Given the description of an element on the screen output the (x, y) to click on. 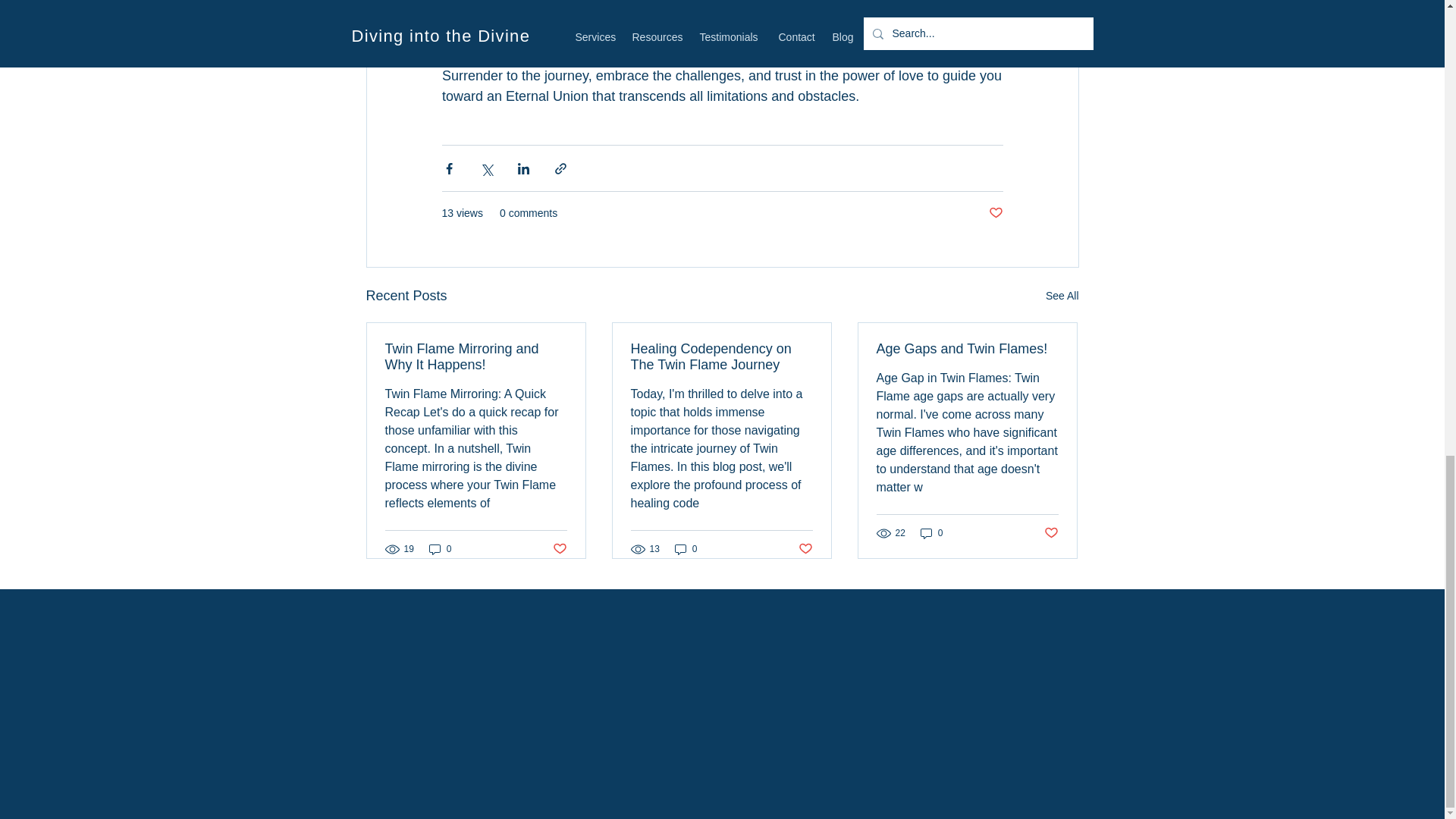
Healing Codependency on The Twin Flame Journey (721, 357)
0 (685, 549)
0 (440, 549)
Post not marked as liked (1050, 533)
Post not marked as liked (804, 548)
Age Gaps and Twin Flames! (967, 349)
0 (931, 532)
Post not marked as liked (558, 548)
Post not marked as liked (995, 213)
Twin Flame Mirroring and Why It Happens! (476, 357)
See All (1061, 296)
